Given the description of an element on the screen output the (x, y) to click on. 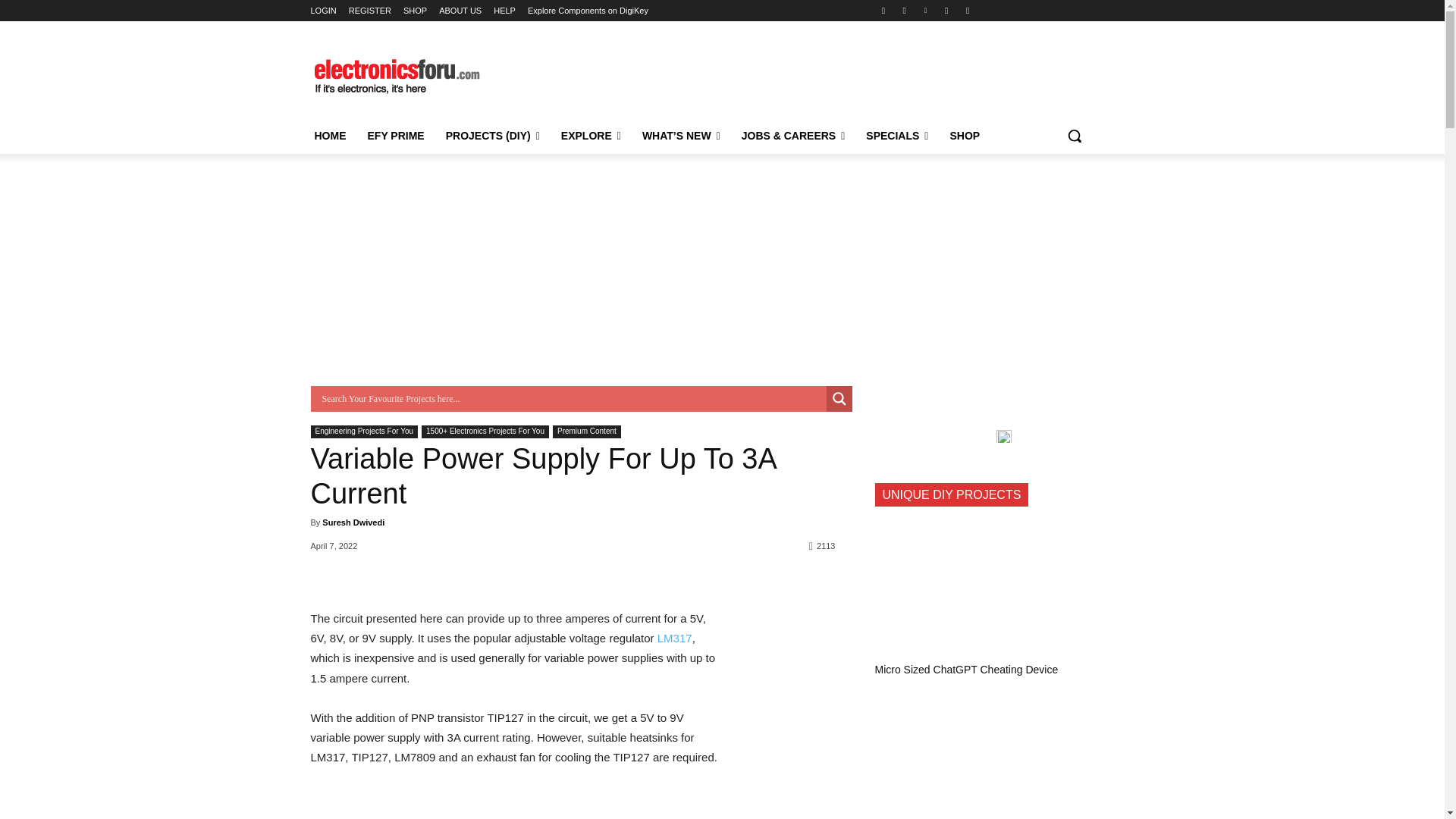
Twitter (946, 9)
Youtube (967, 9)
Facebook (883, 9)
Instagram (903, 9)
Linkedin (925, 9)
